Given the description of an element on the screen output the (x, y) to click on. 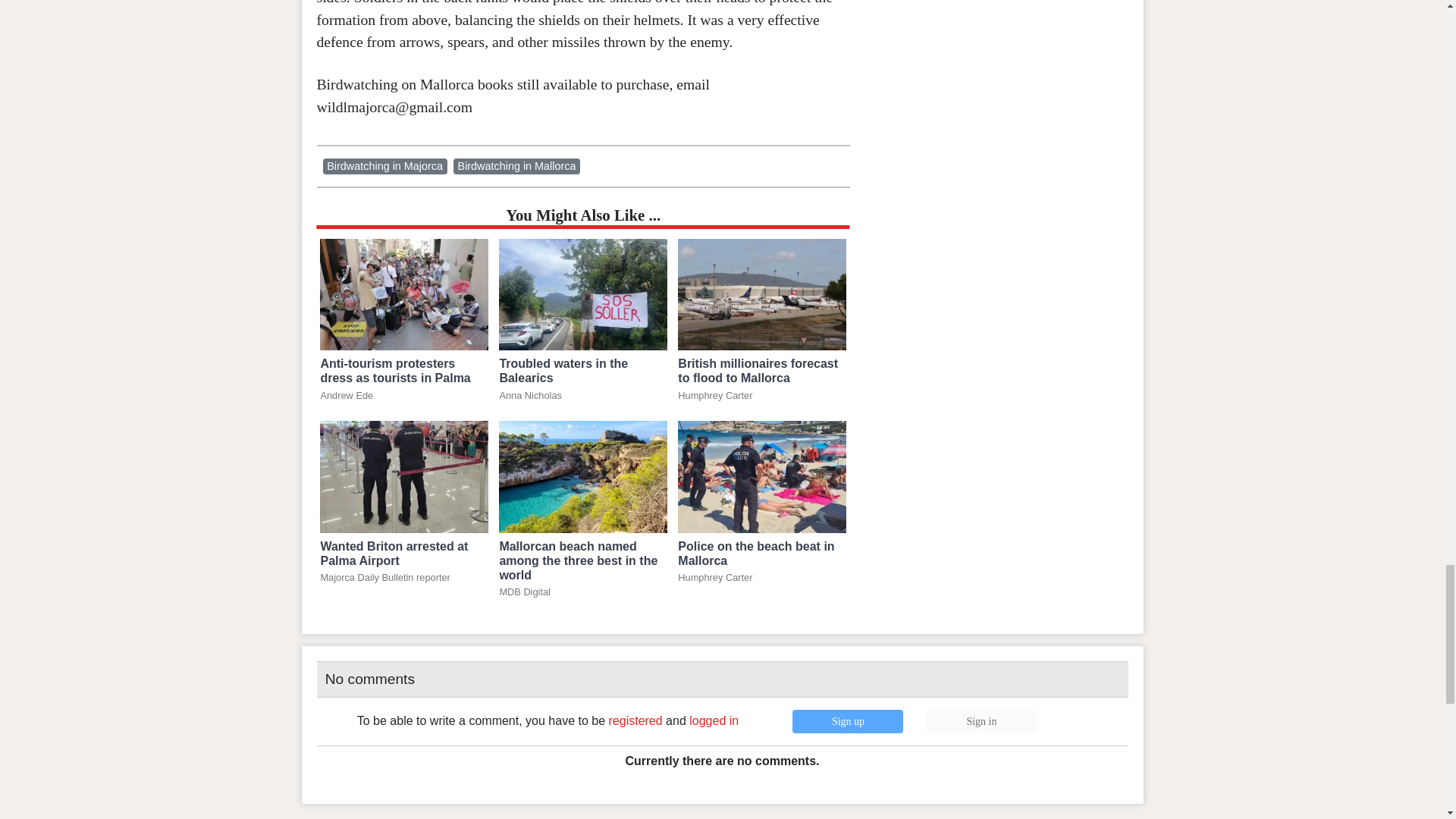
Birdwatching in MajorcaBirdwatching in Mallorca (454, 169)
